Given the description of an element on the screen output the (x, y) to click on. 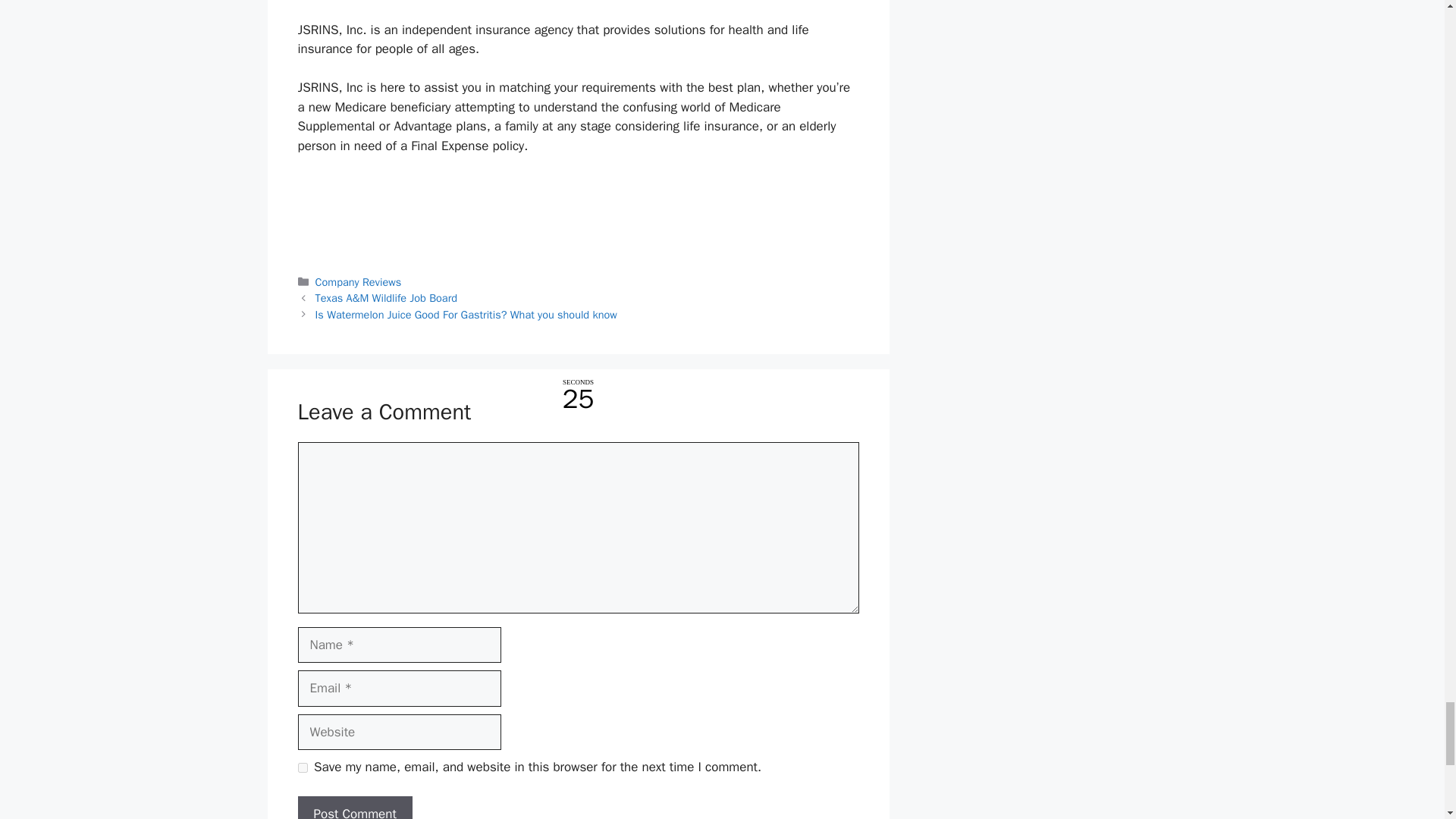
Post Comment (354, 807)
Post Comment (354, 807)
Is Watermelon Juice Good For Gastritis? What you should know (466, 314)
Company Reviews (358, 282)
yes (302, 767)
